Given the description of an element on the screen output the (x, y) to click on. 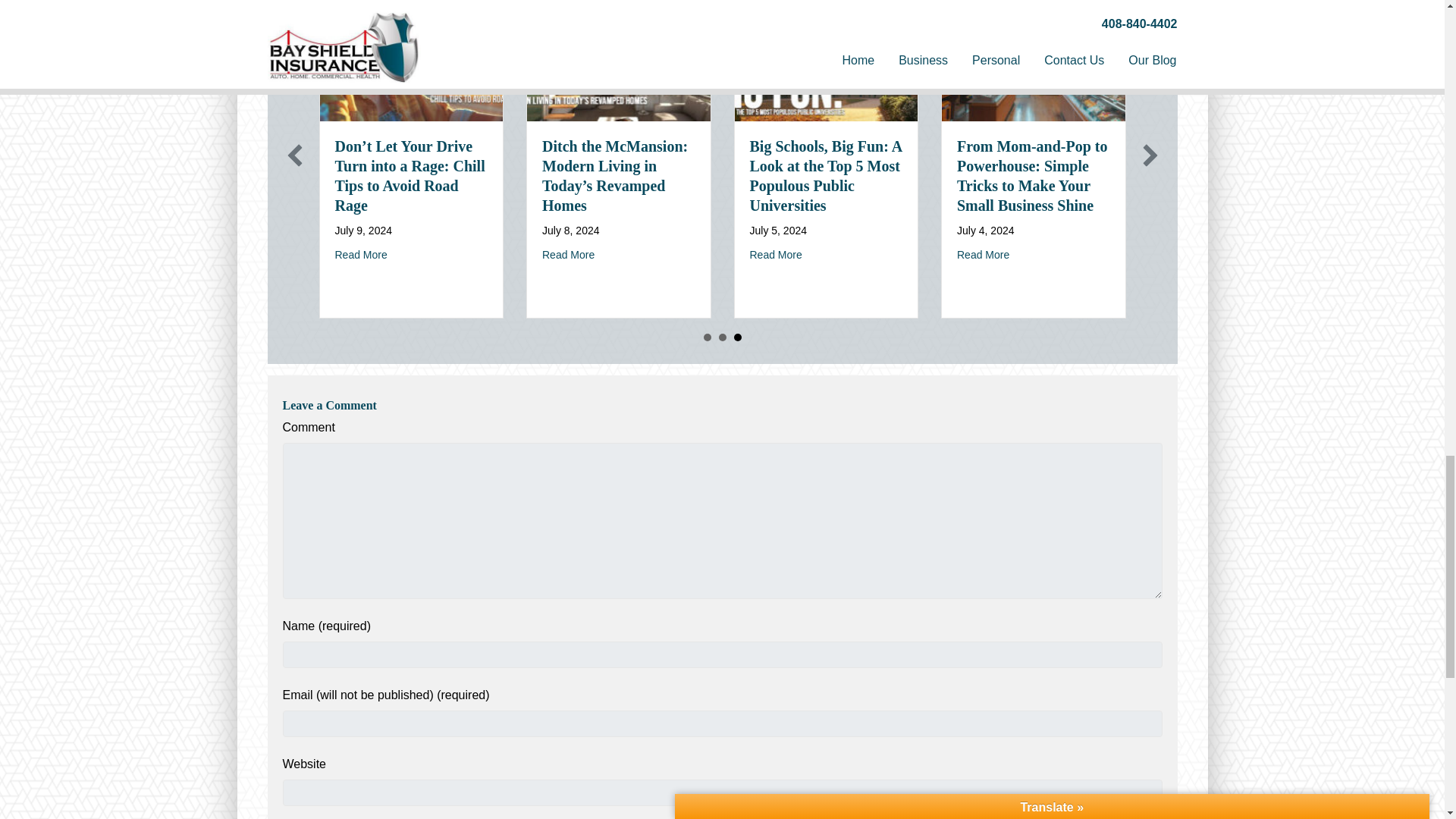
Read More (775, 254)
Read More (360, 254)
Read More (567, 254)
